Given the description of an element on the screen output the (x, y) to click on. 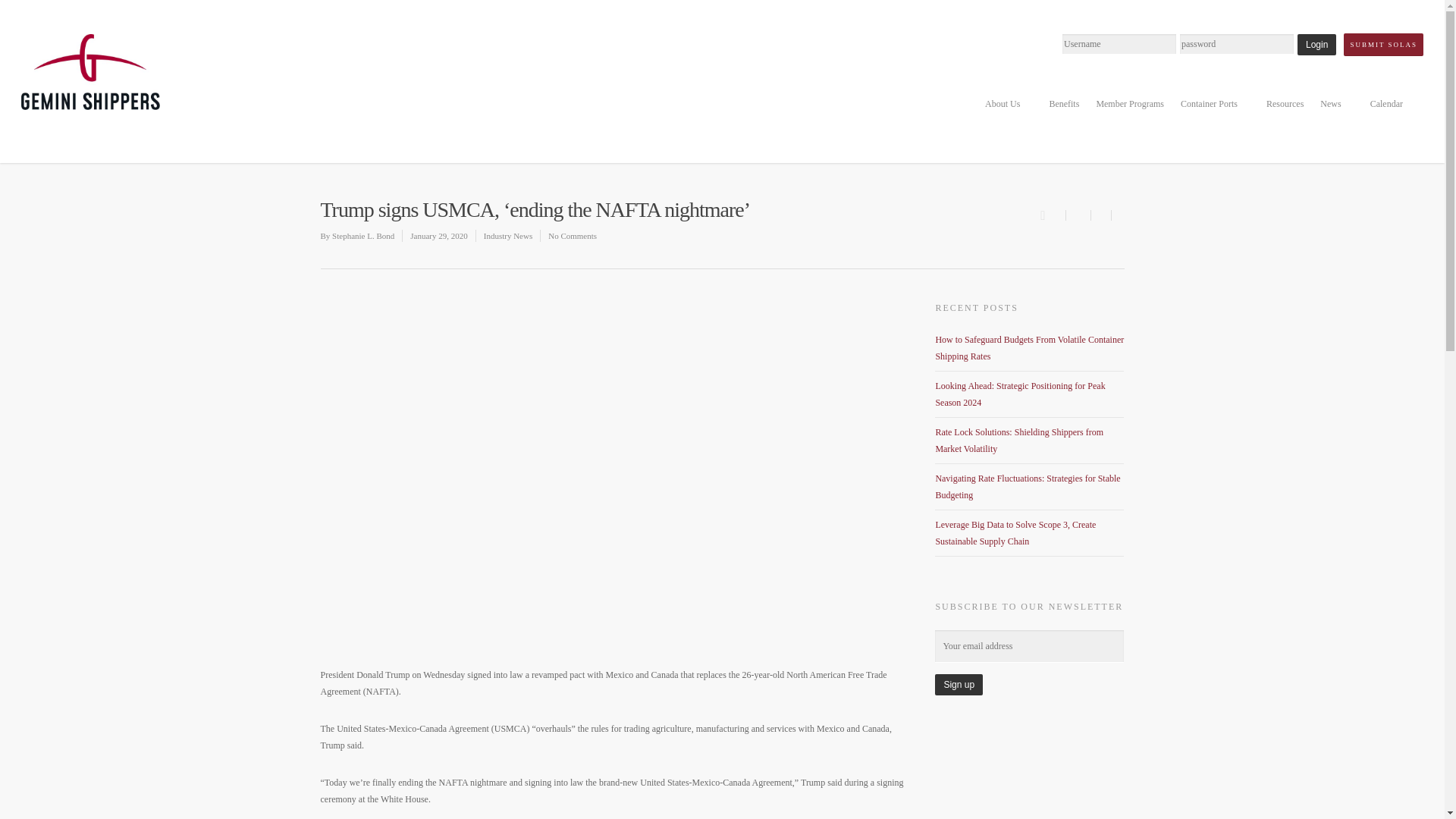
Login (1316, 44)
Posts by Stephanie L. Bond (362, 235)
Sign up (958, 684)
Love this (1052, 213)
Login (1316, 44)
Share this (1077, 214)
Pin this (1118, 214)
SUBMIT SOLAS (1383, 44)
Tweet this (1100, 214)
